Given the description of an element on the screen output the (x, y) to click on. 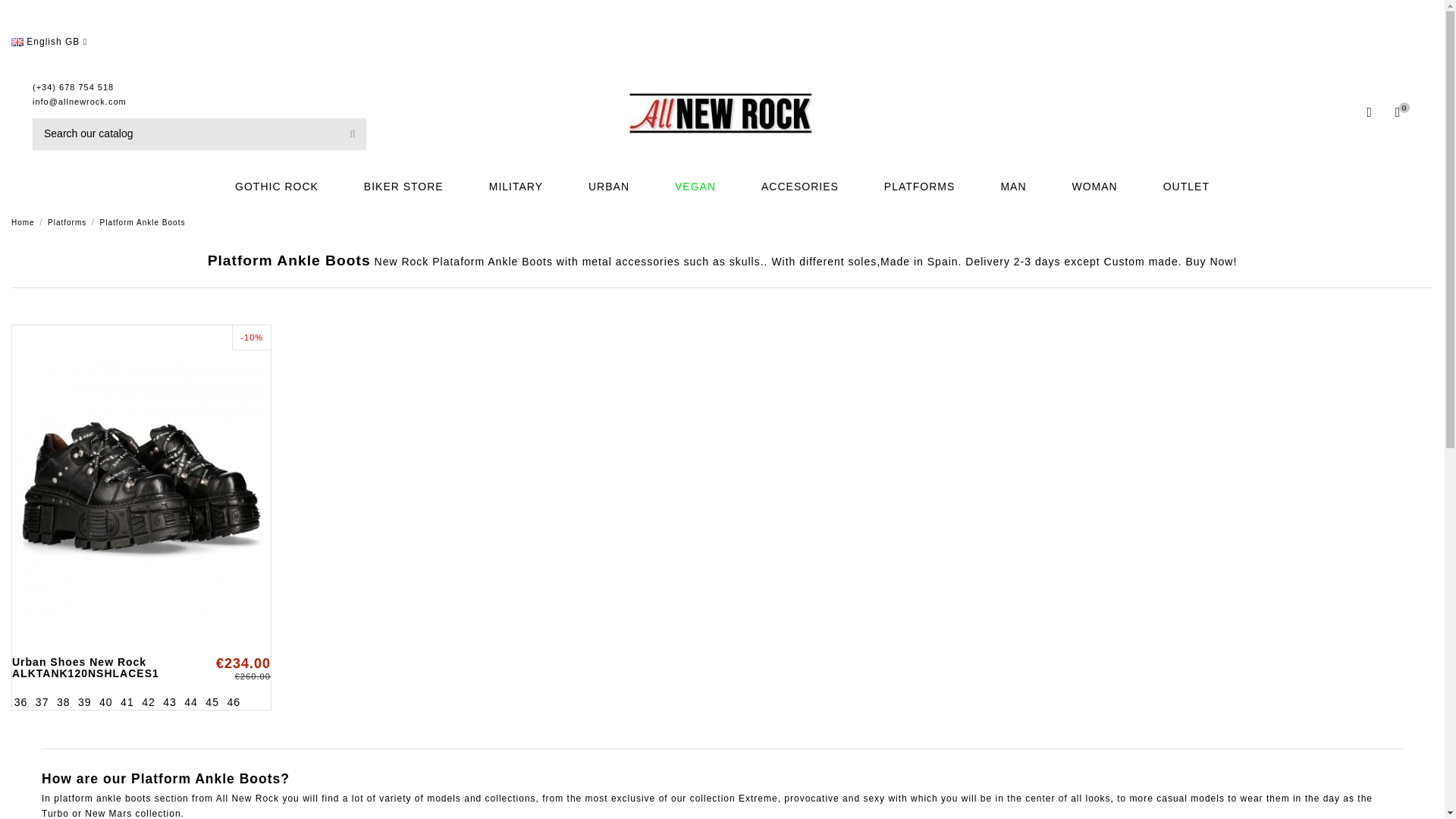
Log in to your customer account (1369, 113)
VEGAN (695, 186)
0 (1397, 113)
ACCESORIES (799, 186)
English GB (49, 41)
BIKER STORE (402, 186)
MILITARY (515, 186)
GOTHIC ROCK (276, 186)
URBAN (609, 186)
